Given the description of an element on the screen output the (x, y) to click on. 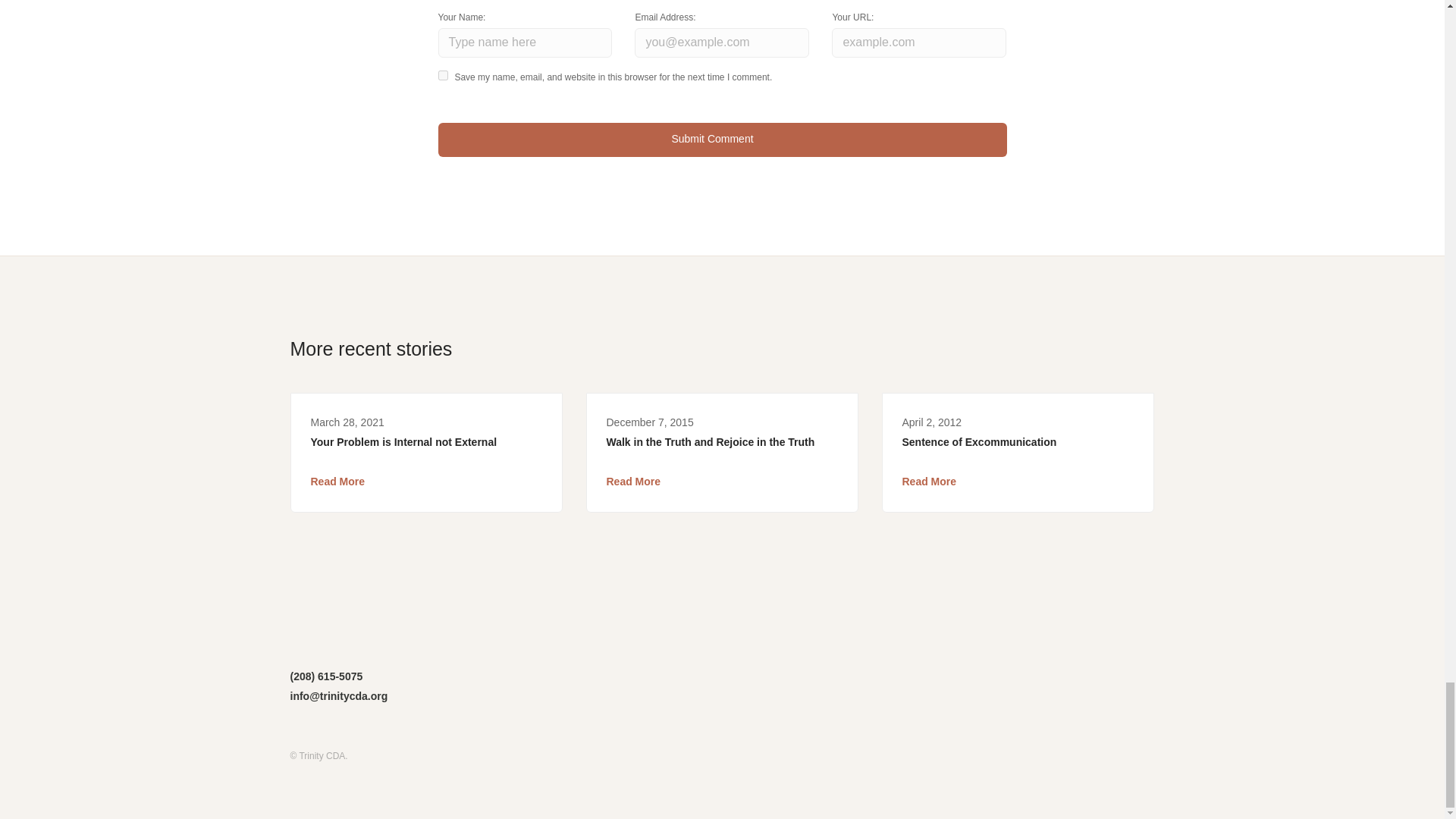
Submit Comment (722, 140)
yes (443, 75)
